Given the description of an element on the screen output the (x, y) to click on. 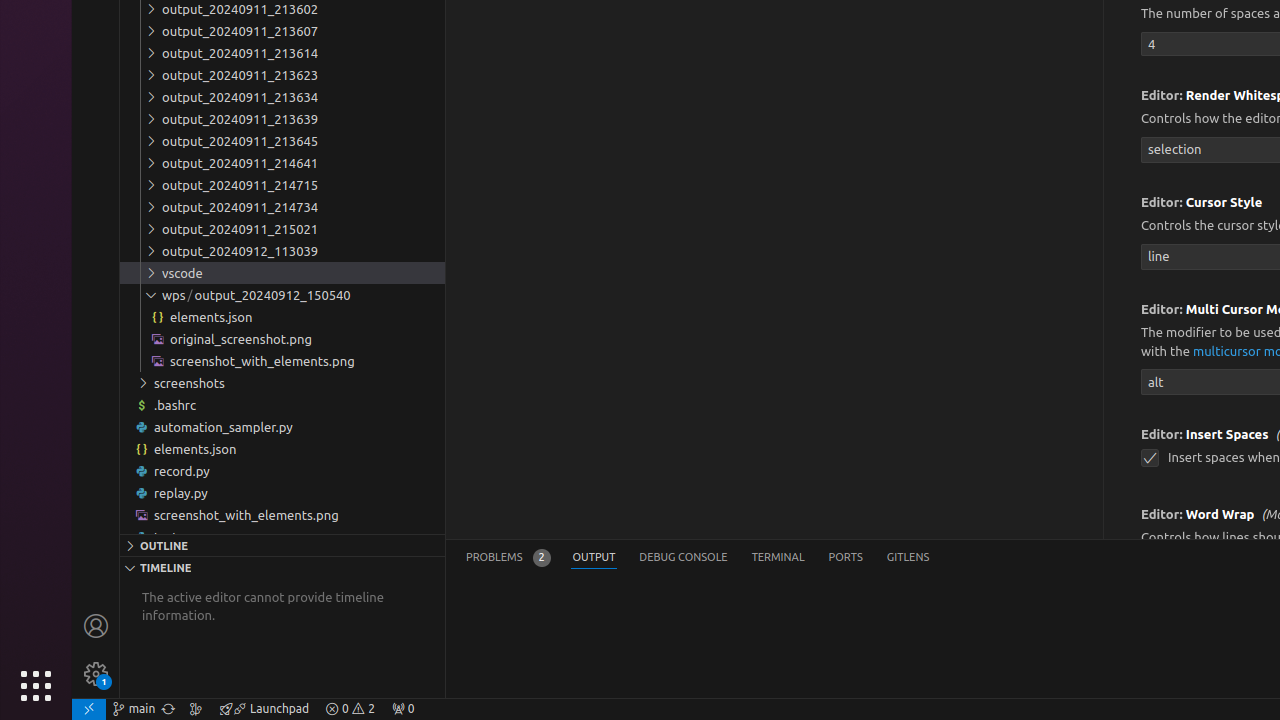
output_20240911_213645 Element type: tree-item (282, 141)
record.py Element type: tree-item (282, 470)
elements.json Element type: tree-item (282, 448)
No Ports Forwarded Element type: push-button (403, 709)
output_20240912_113039 Element type: tree-item (282, 251)
